Given the description of an element on the screen output the (x, y) to click on. 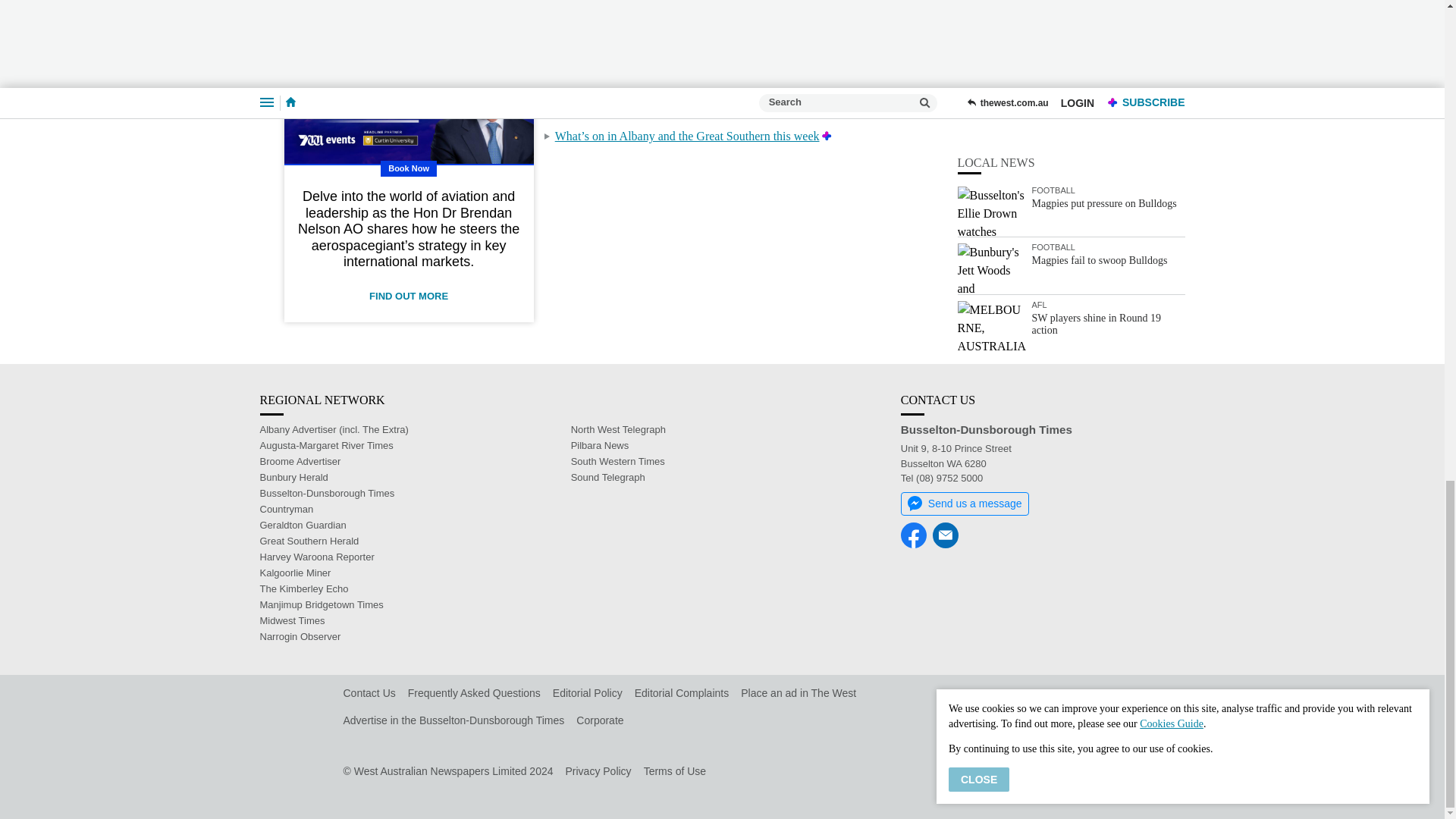
Premium (850, 87)
Premium (860, 38)
Premium (826, 135)
Premium (836, 14)
Premium (880, 62)
Premium (754, 111)
